Given the description of an element on the screen output the (x, y) to click on. 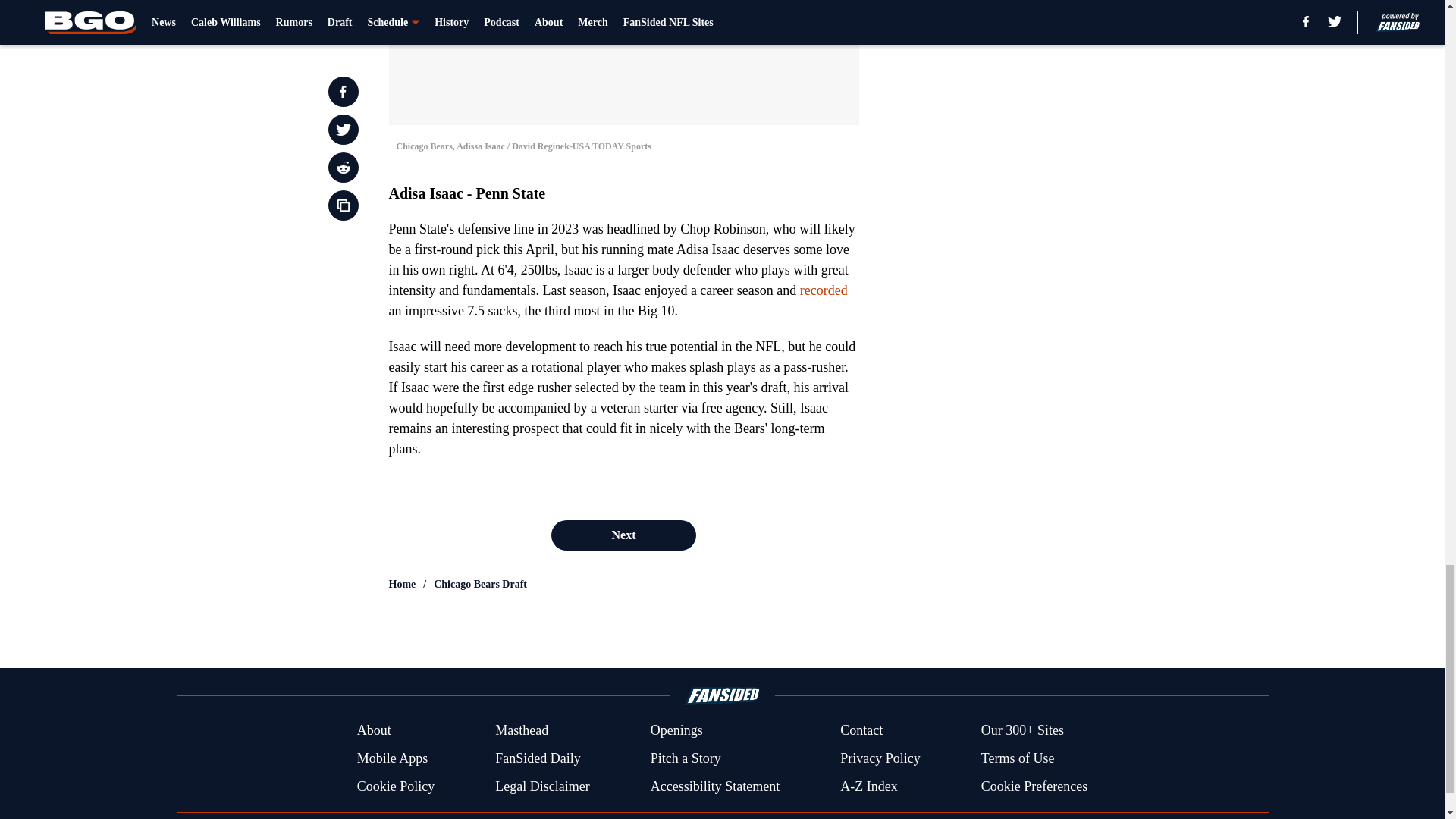
Next (622, 535)
Terms of Use (1017, 758)
Privacy Policy (880, 758)
Chicago Bears Draft (480, 584)
recorded (823, 290)
Home (401, 584)
Contact (861, 730)
Pitch a Story (685, 758)
FanSided Daily (537, 758)
Openings (676, 730)
About (373, 730)
Mobile Apps (392, 758)
Masthead (521, 730)
